Given the description of an element on the screen output the (x, y) to click on. 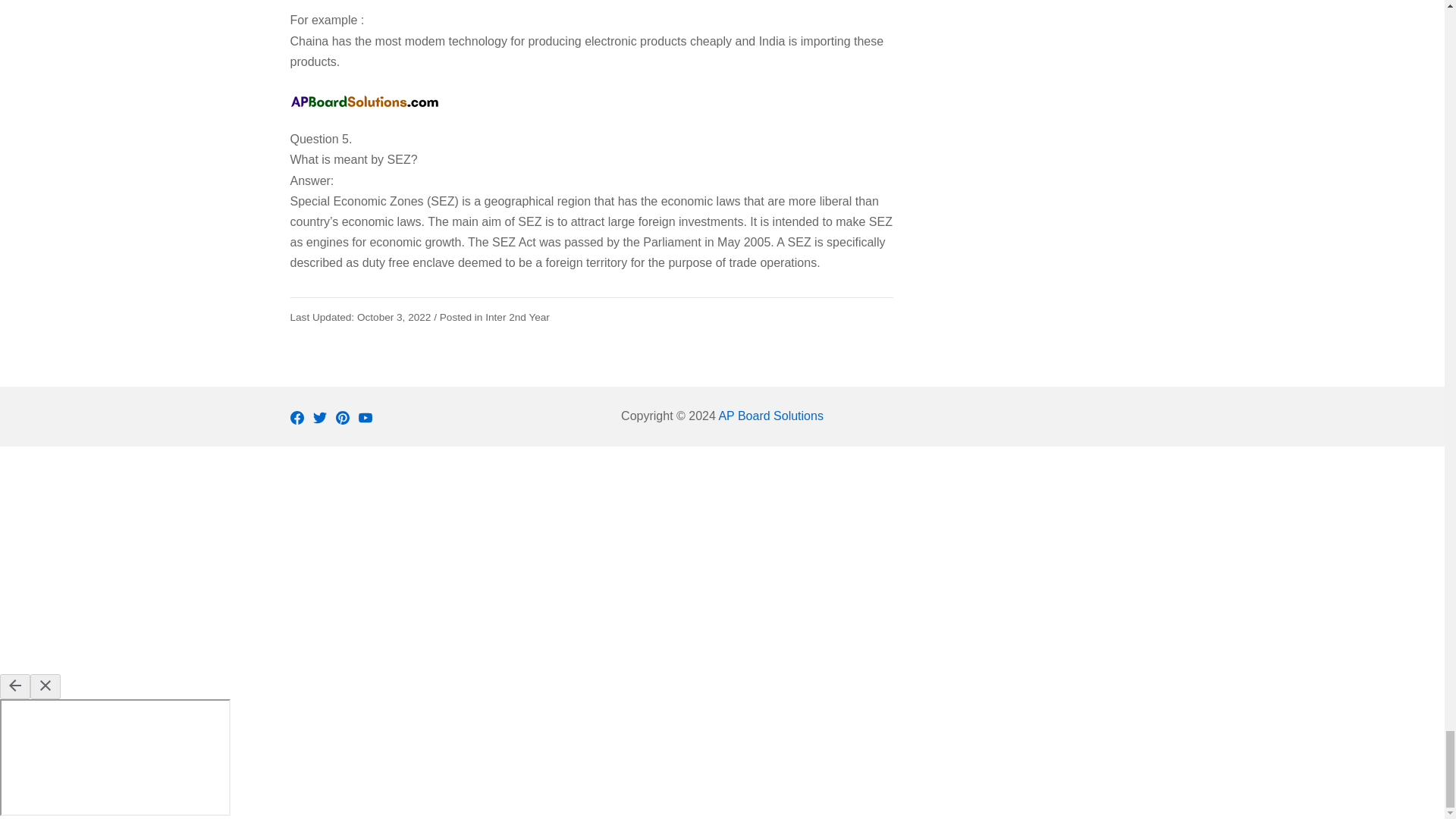
Inter 2nd Year (517, 317)
YouTube icon (364, 418)
Twitter icon (319, 418)
October 3, 2022 (359, 317)
Twitter (319, 418)
Pinterest icon (341, 418)
Facebook (295, 418)
Pinterest (341, 418)
Youtube (364, 418)
